Given the description of an element on the screen output the (x, y) to click on. 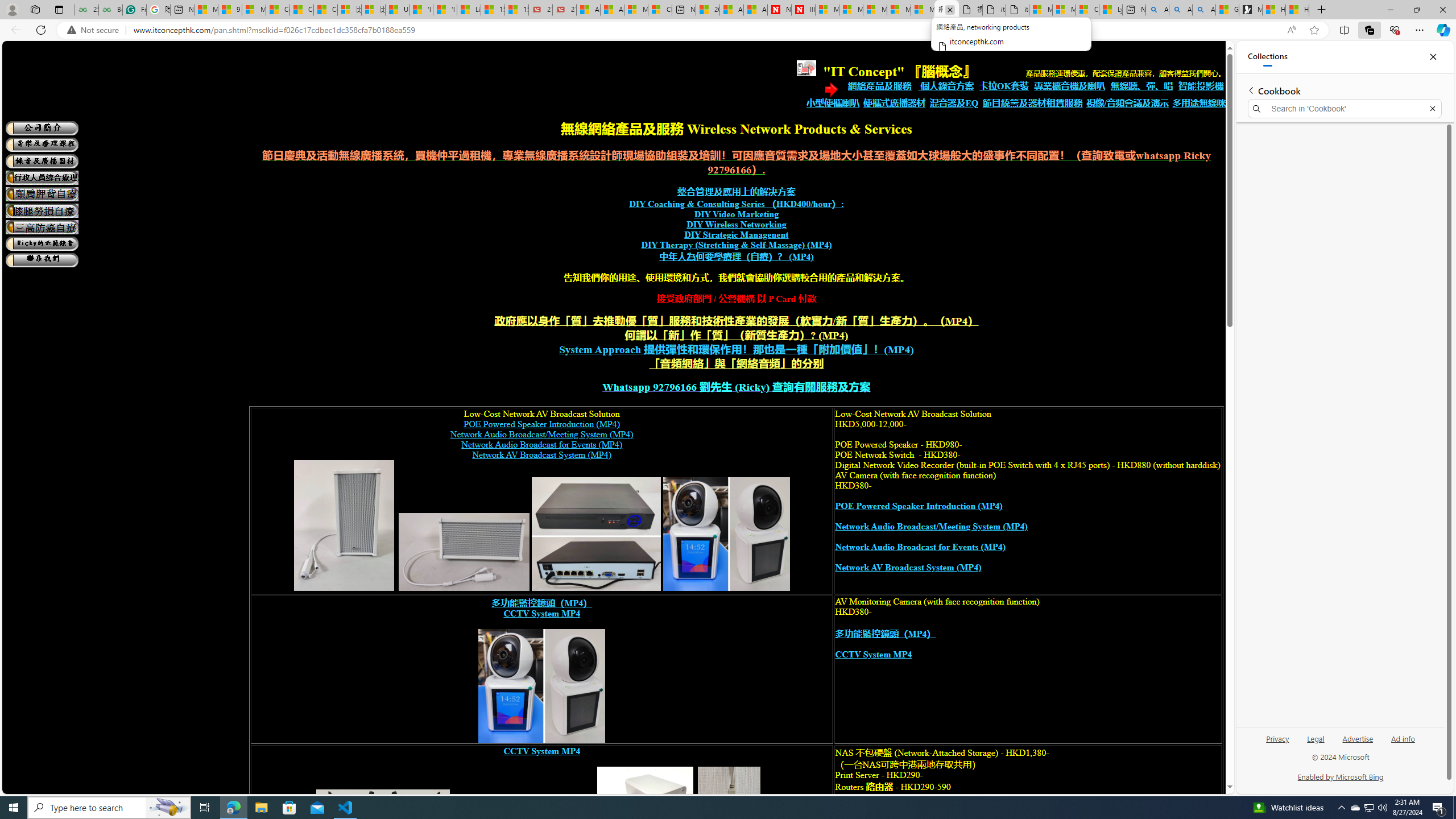
Best SSL Certificates Provider in India - GeeksforGeeks (110, 9)
21 Movies That Outdid the Books They Were Based On (563, 9)
Exit search (1432, 108)
